Given the description of an element on the screen output the (x, y) to click on. 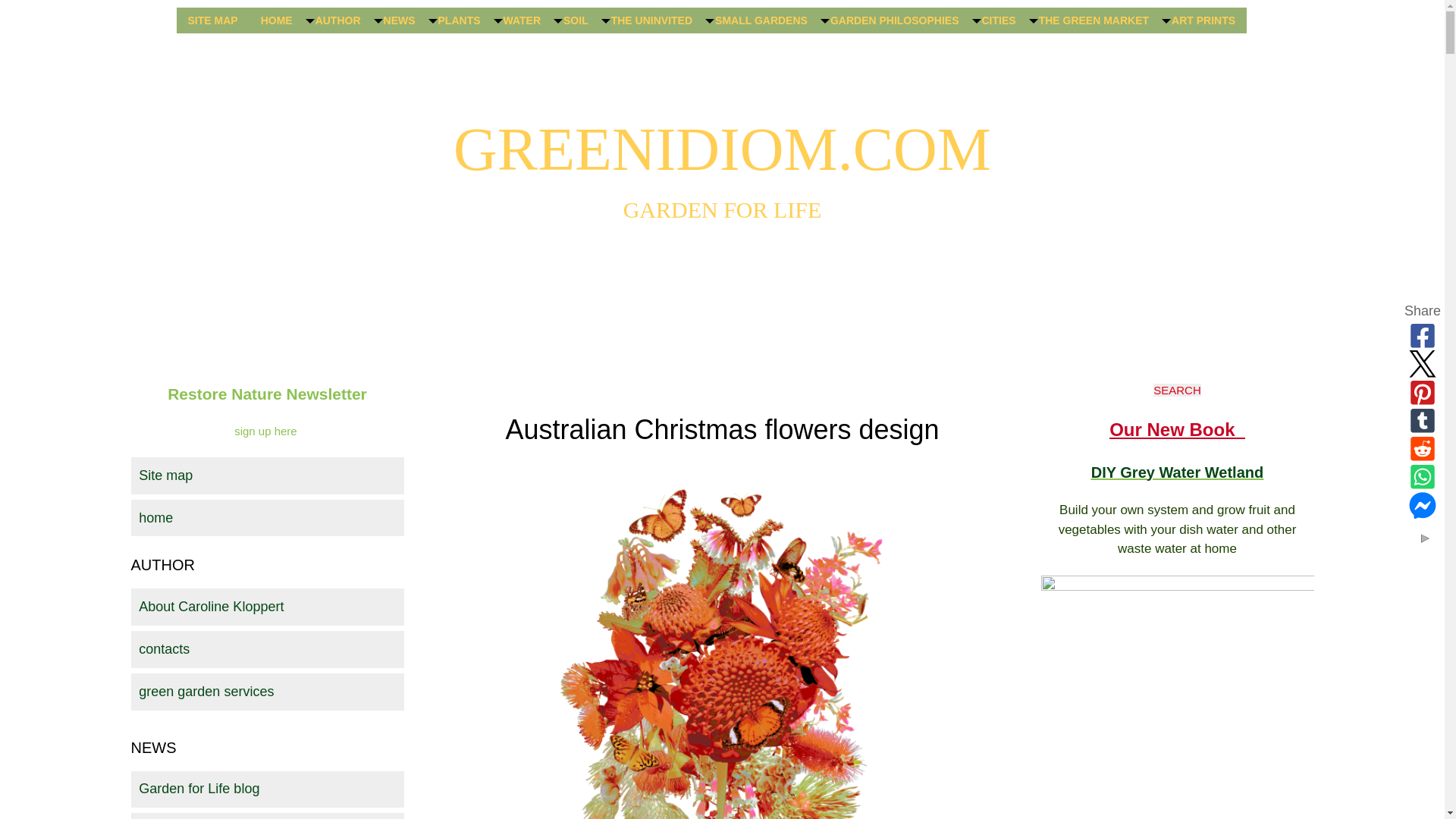
GREENIDIOM.COM (721, 149)
Australian Christmas flowers in fire colours. (722, 643)
SITE MAP (212, 20)
HOME (276, 20)
